Given the description of an element on the screen output the (x, y) to click on. 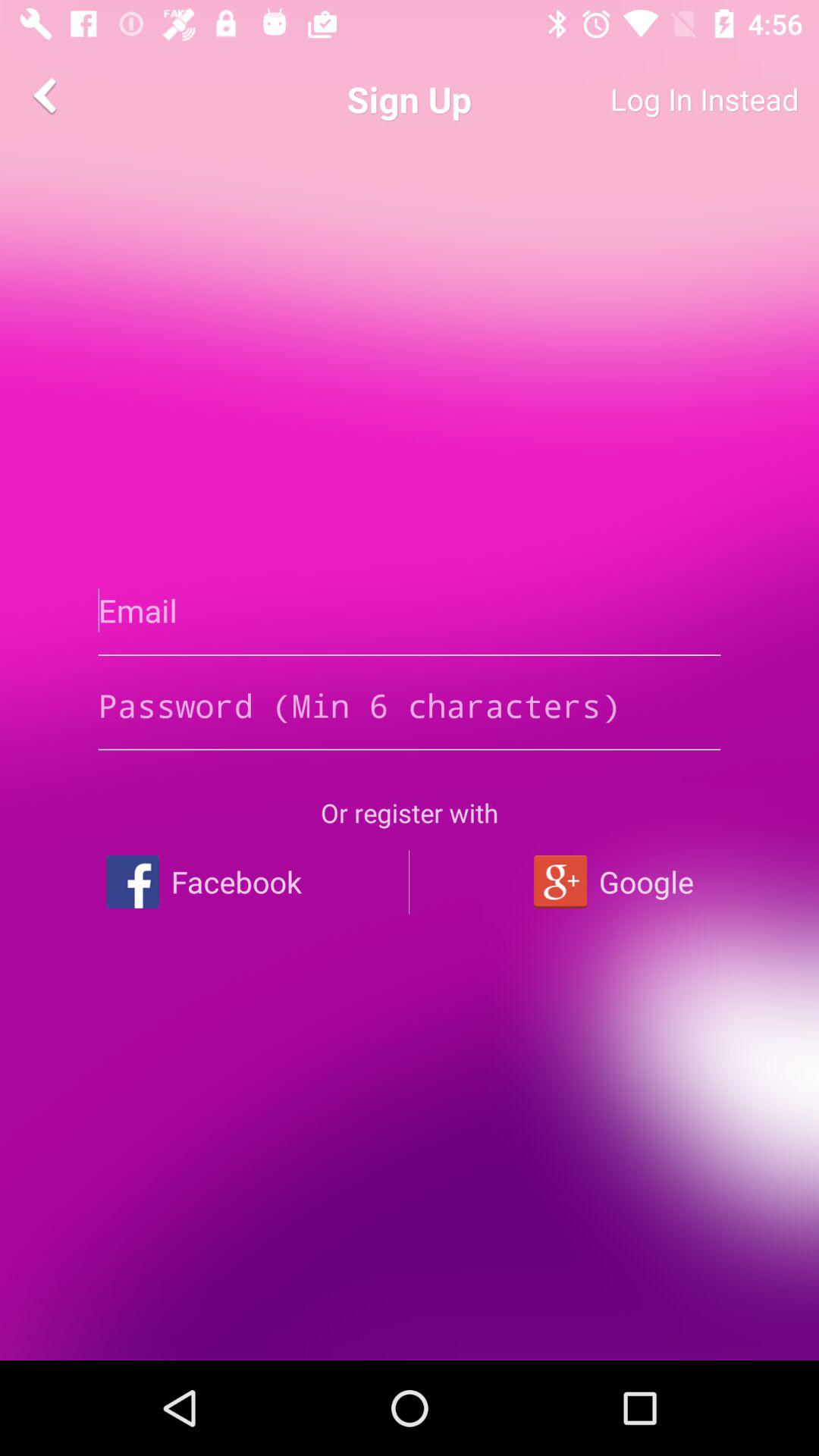
launch the app below the sign up item (409, 610)
